Given the description of an element on the screen output the (x, y) to click on. 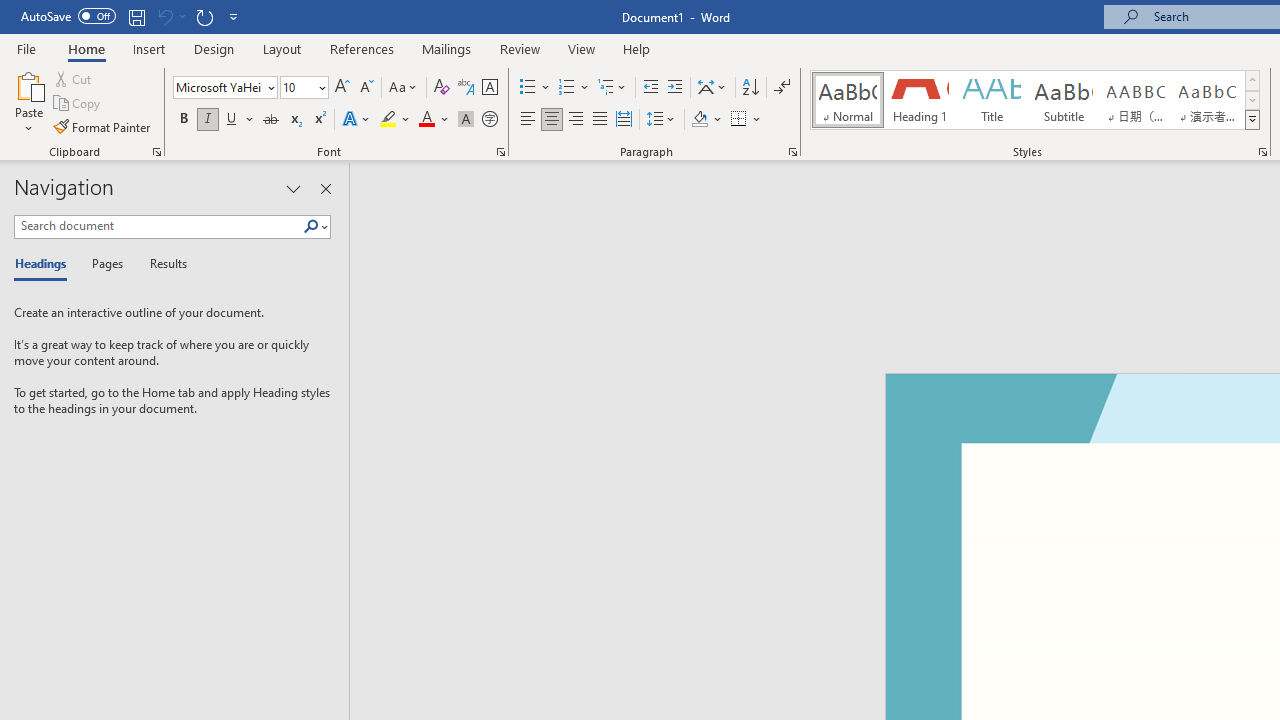
Subtitle (1063, 100)
